Given the description of an element on the screen output the (x, y) to click on. 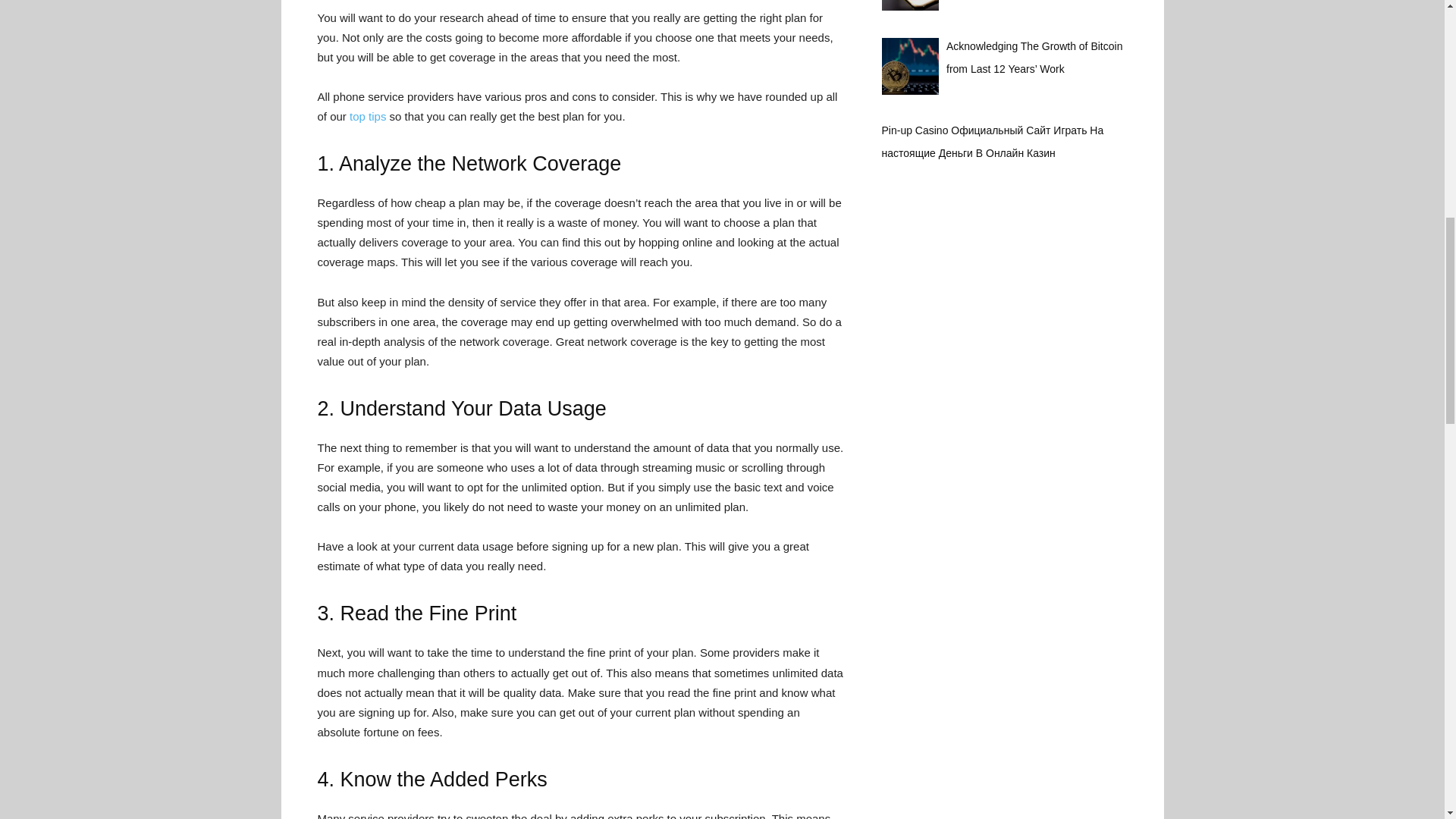
top tips (366, 115)
